Given the description of an element on the screen output the (x, y) to click on. 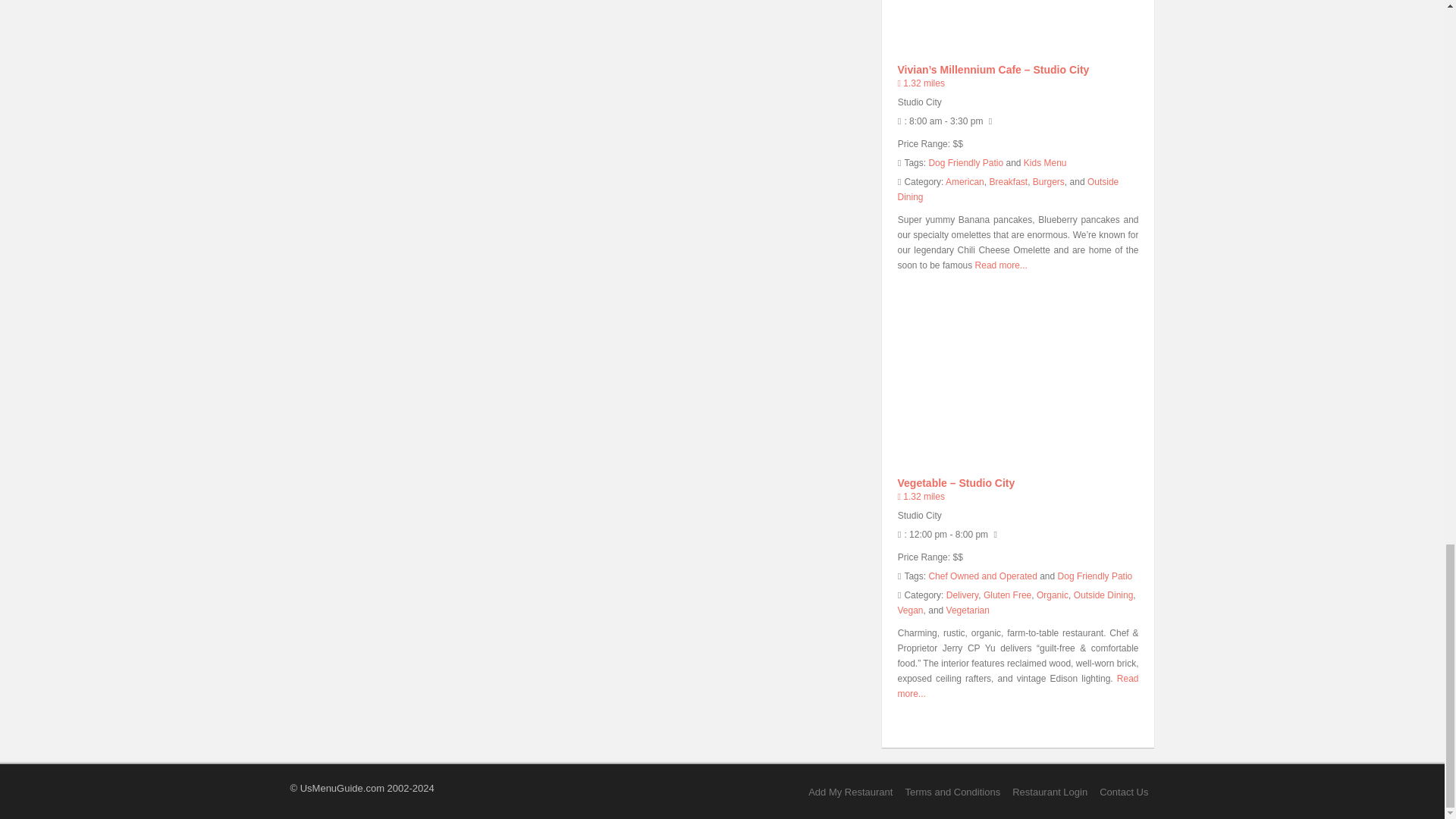
Chef Owned and Operated (982, 575)
American (964, 181)
Dog Friendly Patio (1095, 575)
Dog Friendly Patio (965, 163)
1.32 miles (921, 496)
Breakfast (1007, 181)
Kids Menu (1045, 163)
1.32 miles (921, 82)
Outside Dining (1008, 189)
Expand opening hours (951, 121)
